Given the description of an element on the screen output the (x, y) to click on. 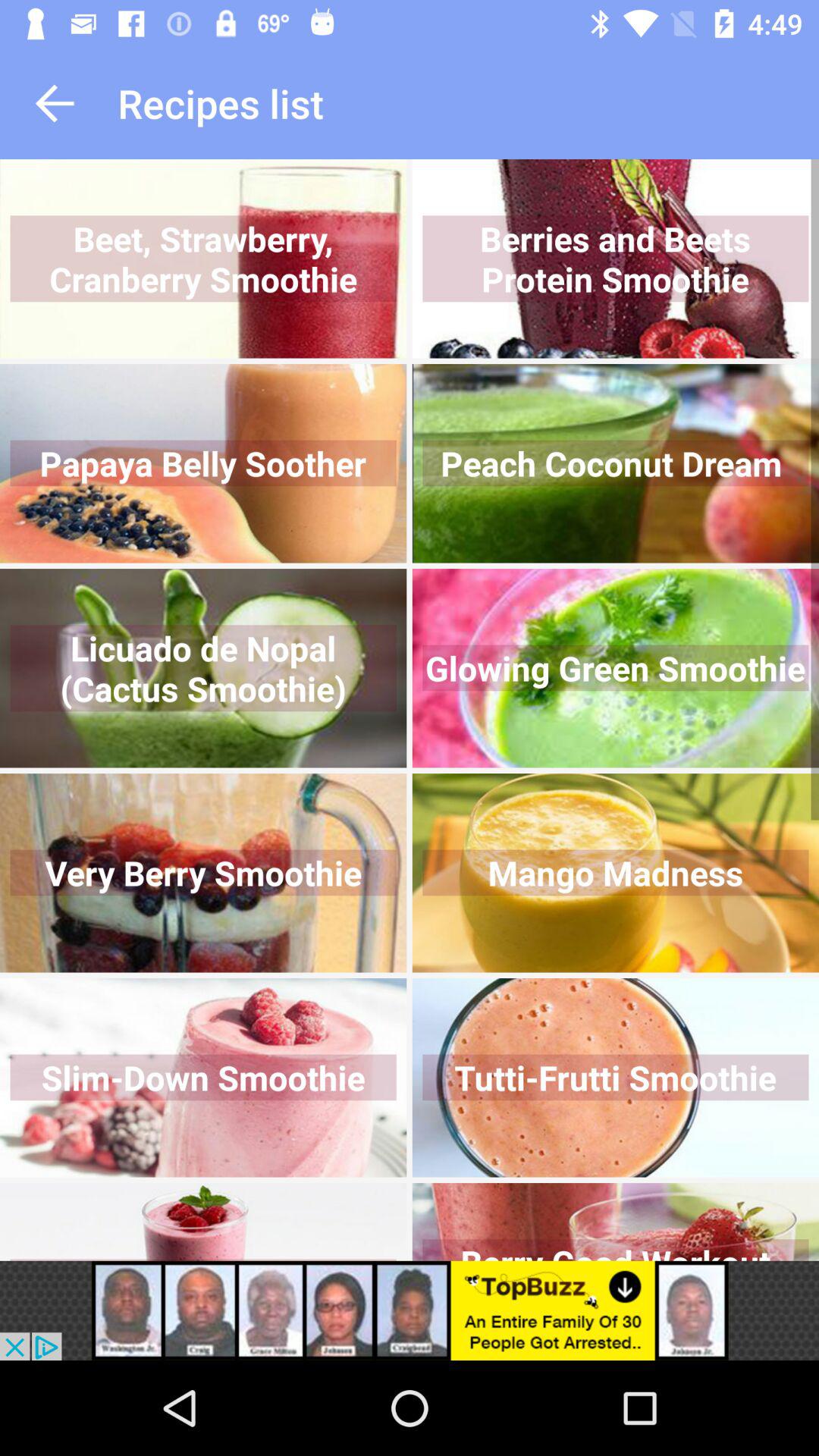
advertisement (409, 1310)
